Given the description of an element on the screen output the (x, y) to click on. 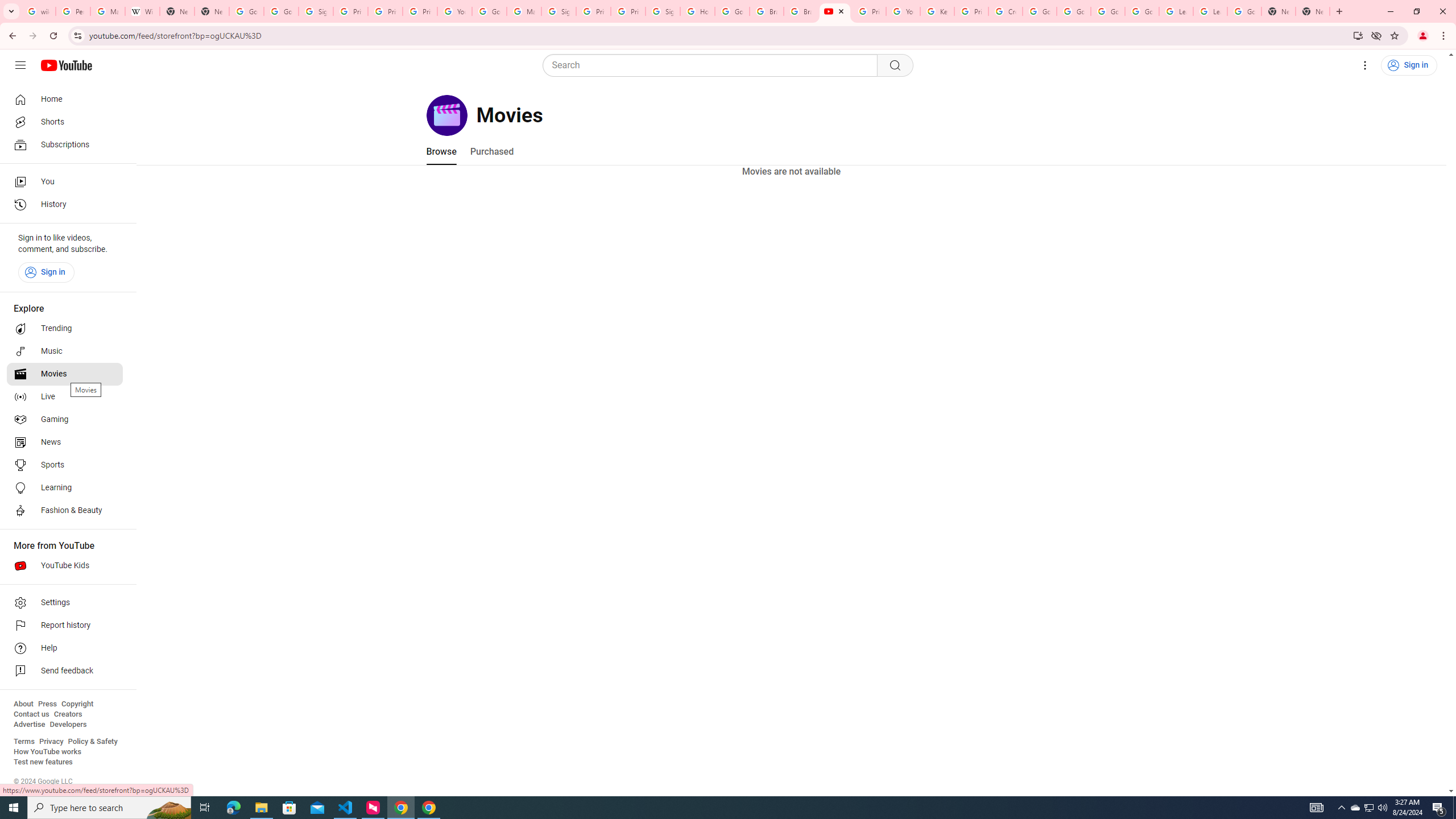
Copyright (77, 703)
History (64, 204)
YouTube Kids (64, 565)
Google Account Help (1141, 11)
Google Account Help (1039, 11)
Live (64, 396)
Sign in - Google Accounts (662, 11)
